Given the description of an element on the screen output the (x, y) to click on. 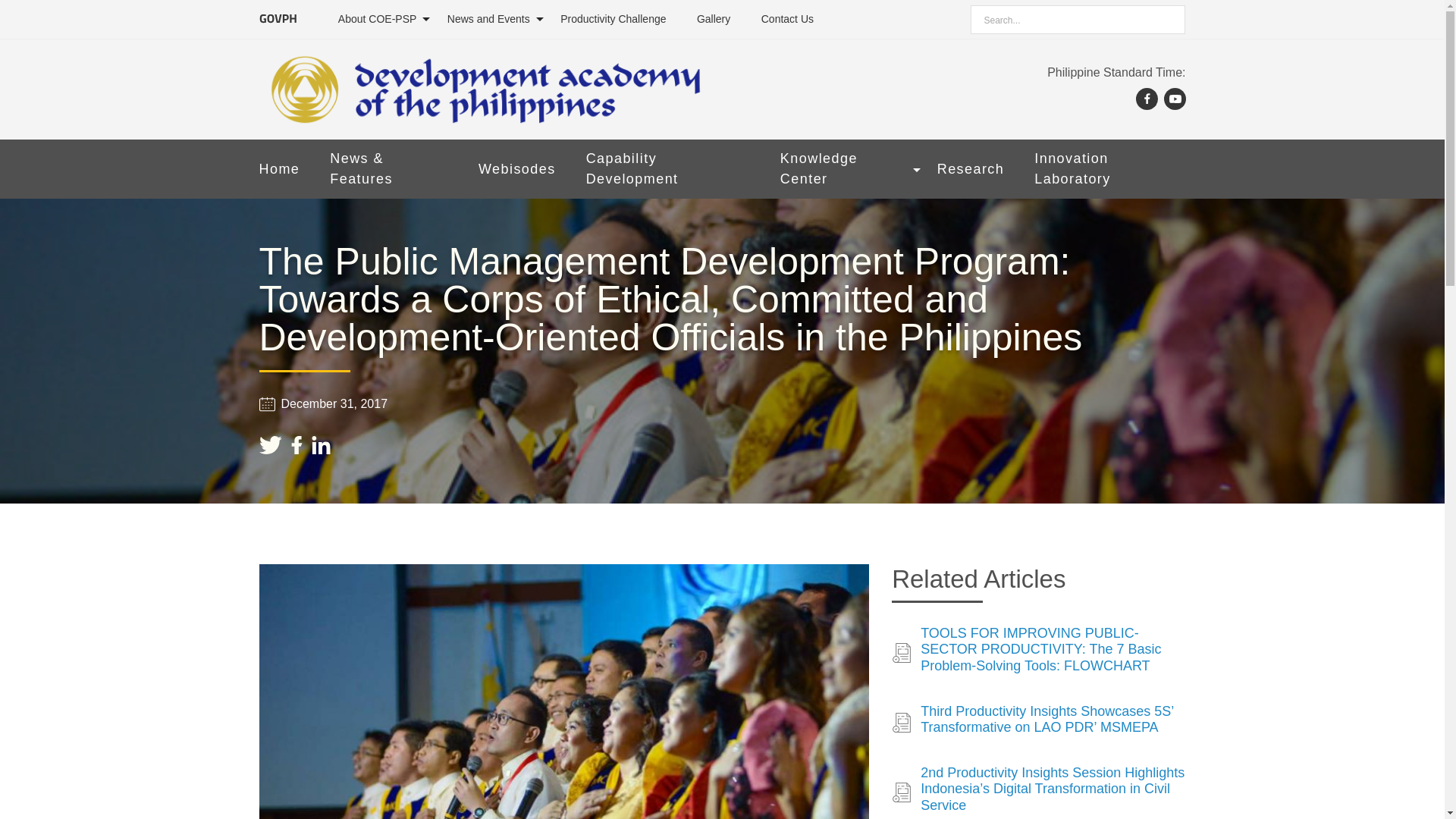
Webisodes (517, 169)
Research (970, 169)
Knowledge Center (843, 169)
Productivity Challenge (612, 19)
Capability Development (667, 169)
Contact Us (787, 19)
News and Events (487, 19)
Innovation Laboratory (1109, 169)
